Given the description of an element on the screen output the (x, y) to click on. 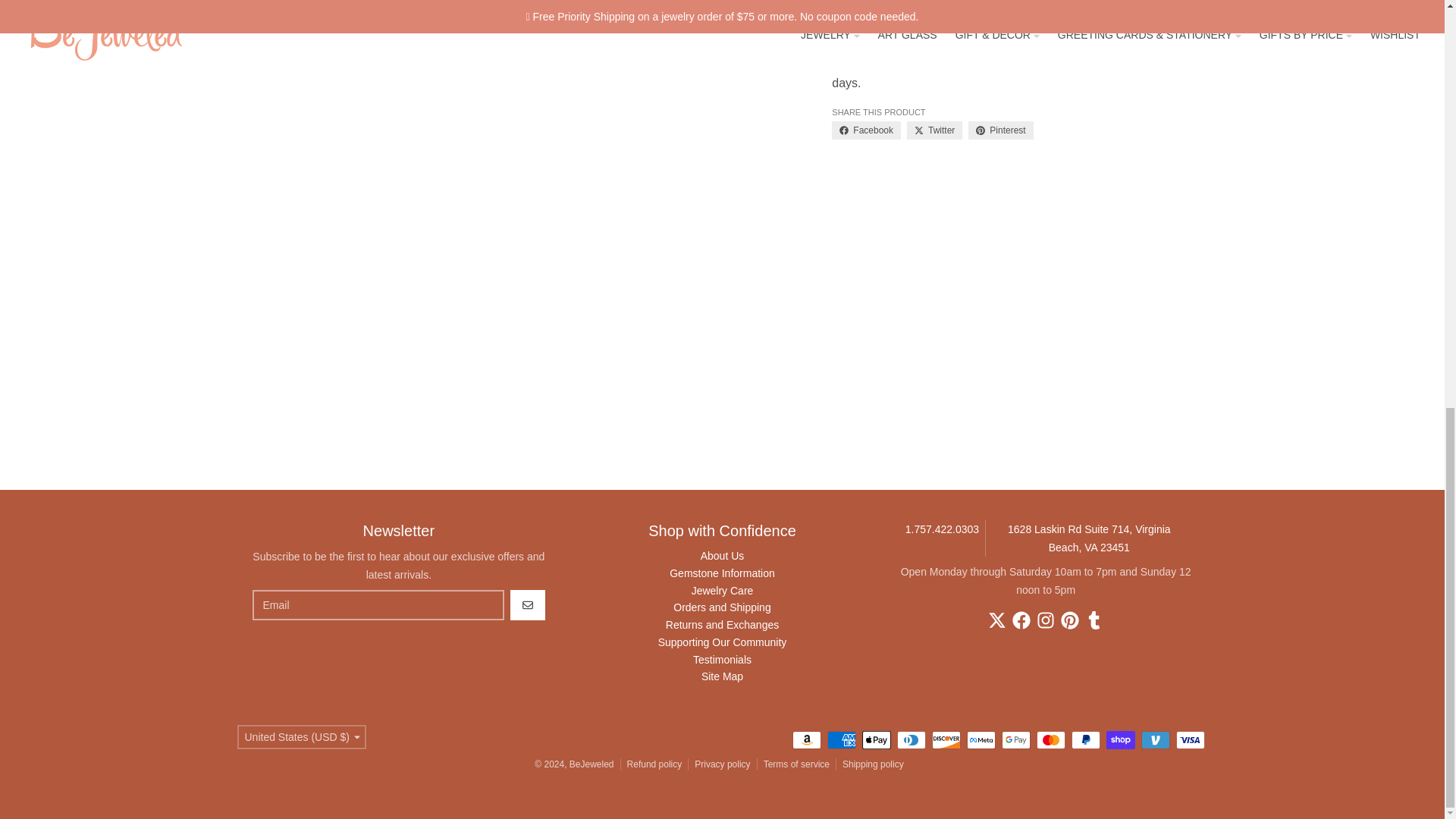
Tumblr - BeJeweled (1093, 619)
Twitter - BeJeweled (997, 619)
Pinterest - BeJeweled (1069, 619)
Facebook - BeJeweled (1020, 619)
Instagram - BeJeweled (1045, 619)
